Given the description of an element on the screen output the (x, y) to click on. 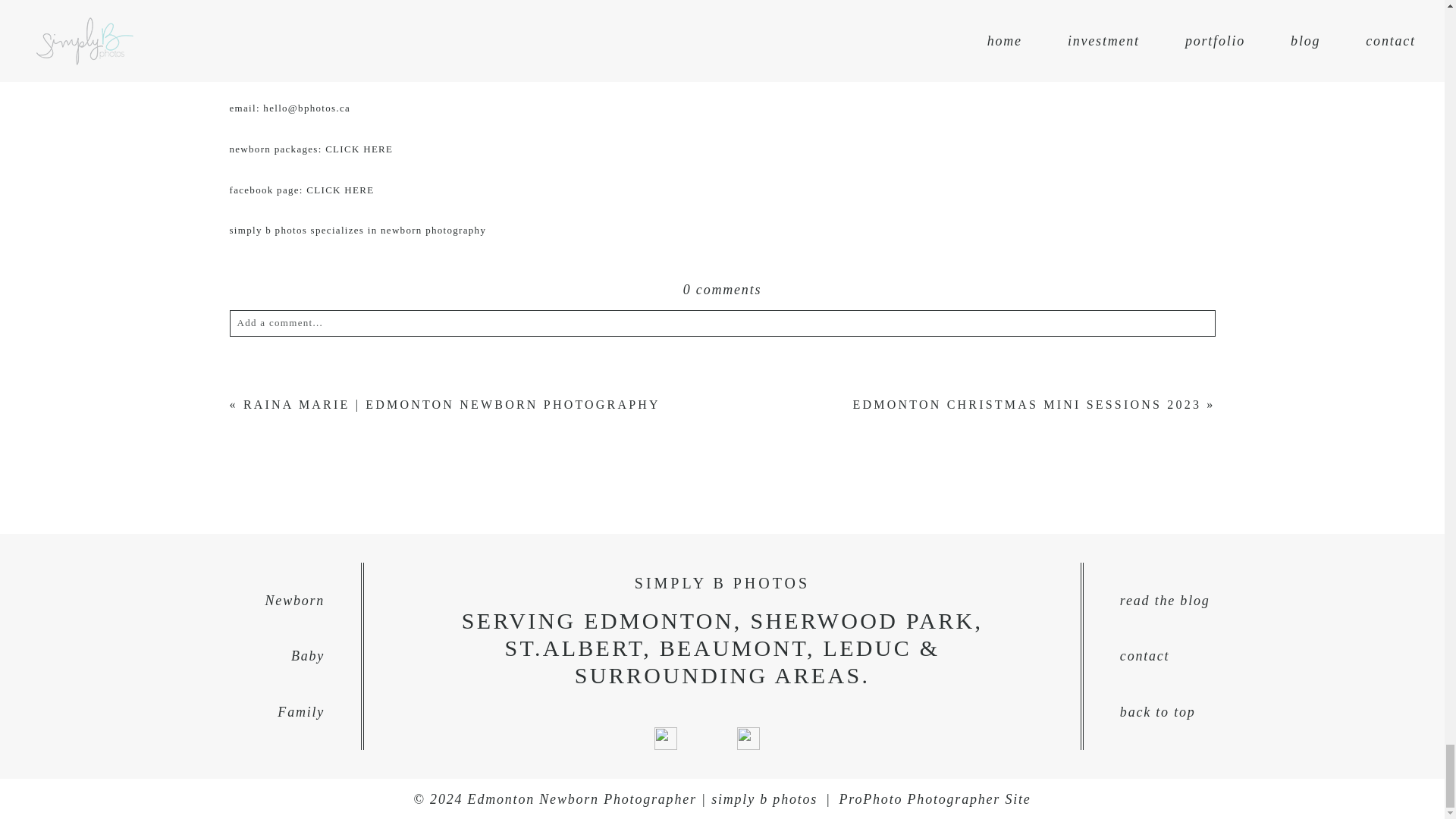
EDMONTON CHRISTMAS MINI SESSIONS 2023 (1027, 404)
CLICK HERE (339, 189)
Family (180, 712)
Baby (180, 655)
CLICK HERE (358, 148)
Newborn (180, 600)
ProPhoto Blogsite (935, 798)
